Given the description of an element on the screen output the (x, y) to click on. 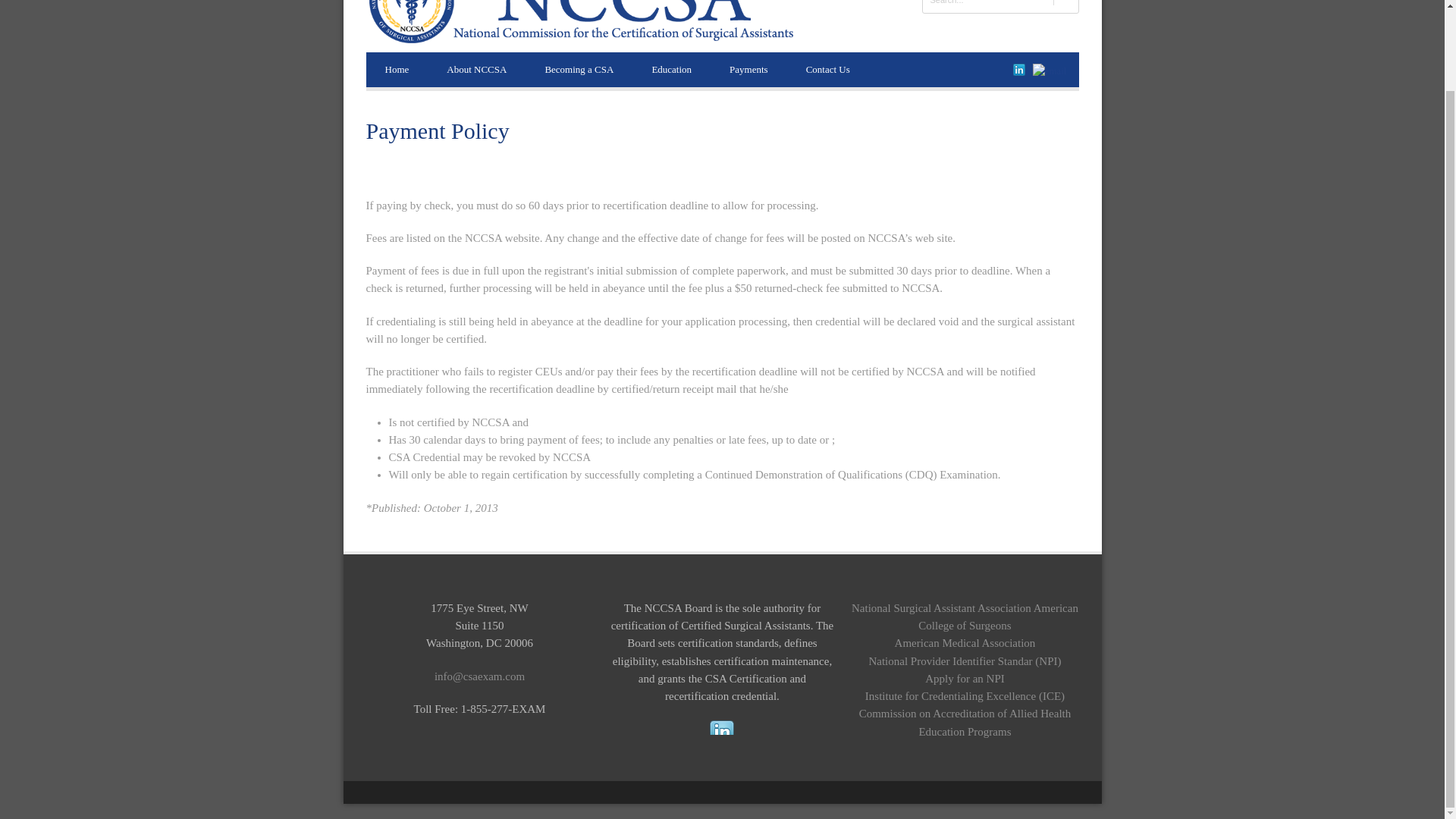
Payments (748, 69)
National Surgical Assistant Association (940, 607)
Home (396, 69)
American Medical Association (965, 643)
About NCCSA (476, 69)
American College of Surgeons (998, 616)
Apply for an NPI (964, 678)
Contact Us (828, 69)
Becoming a CSA (578, 69)
